Given the description of an element on the screen output the (x, y) to click on. 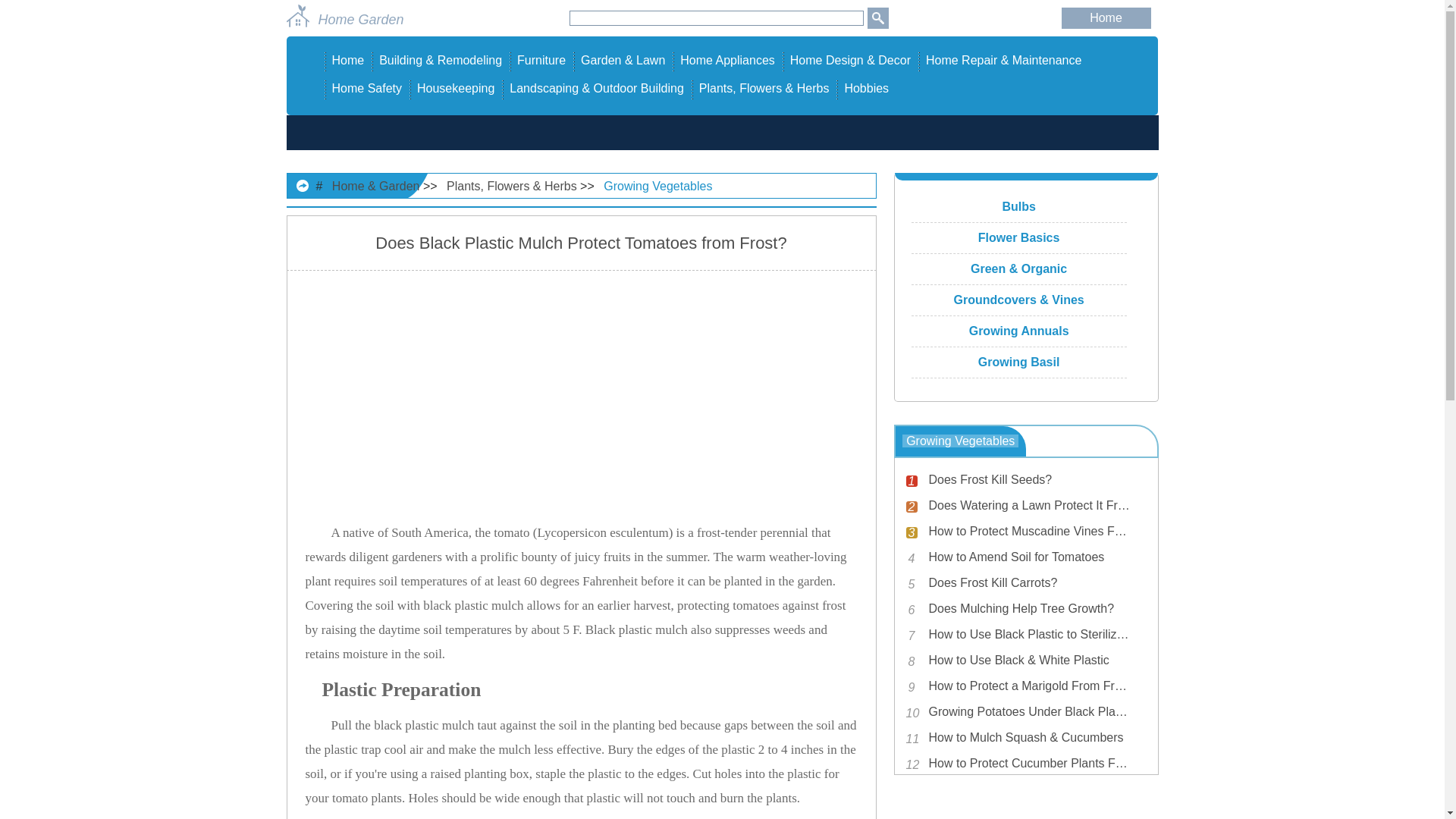
Bulbs (1018, 206)
Home (1105, 17)
Home (348, 60)
Flower Basics (1018, 237)
Growing Potatoes Under Black Plastic (1028, 711)
Housekeeping (455, 88)
Growing Vegetables (657, 185)
Furniture (541, 60)
Growing Annuals (1018, 331)
Does Frost Kill Carrots? (1028, 582)
